Given the description of an element on the screen output the (x, y) to click on. 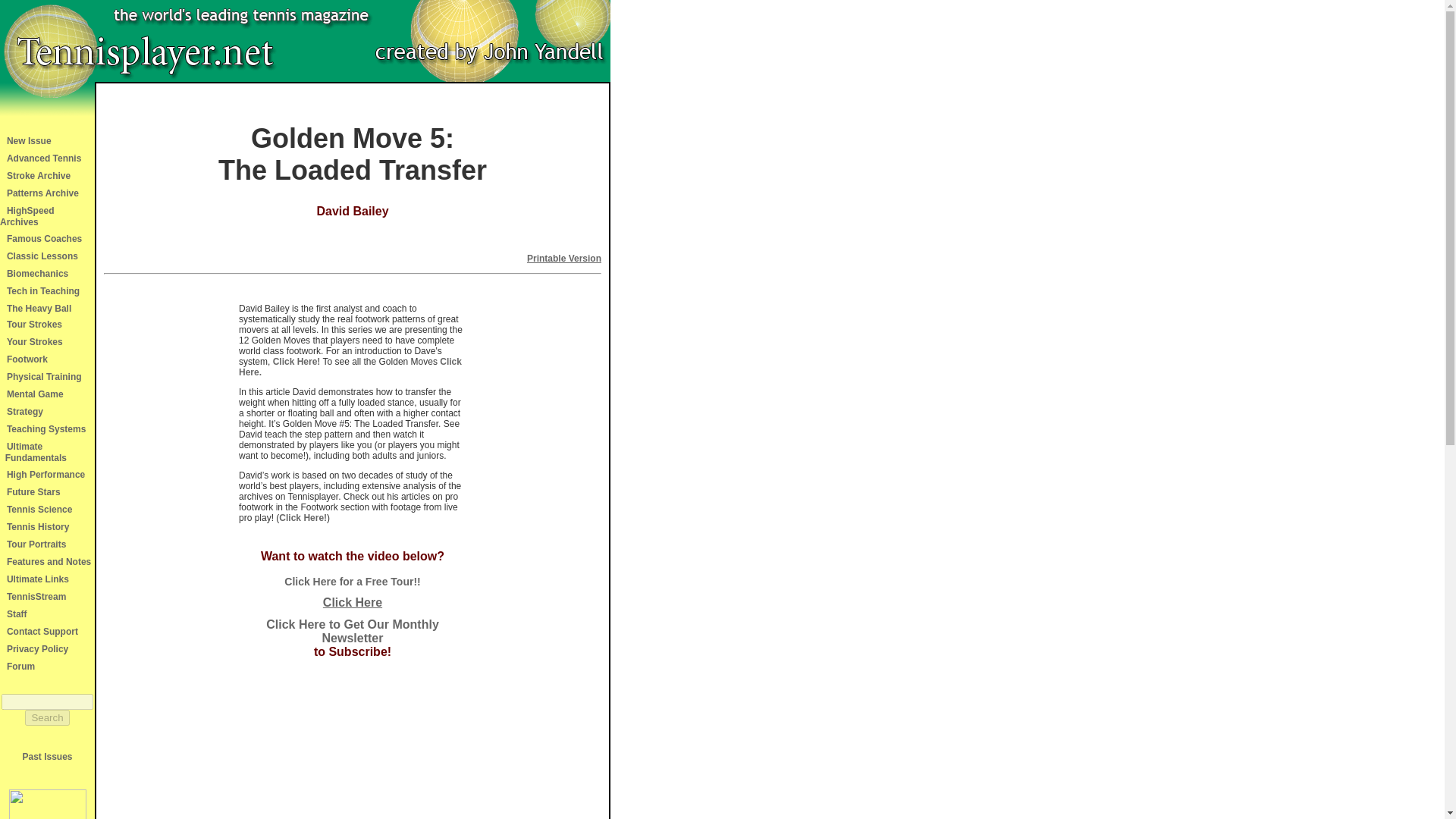
Biomechanics (37, 273)
Contact Support (42, 631)
Strategy (25, 411)
Physical Training (44, 376)
Your Strokes (34, 341)
Past Issues (46, 756)
TennisStream (36, 596)
Click Here! (296, 361)
Tennis History (37, 526)
The Heavy Ball (39, 308)
